Given the description of an element on the screen output the (x, y) to click on. 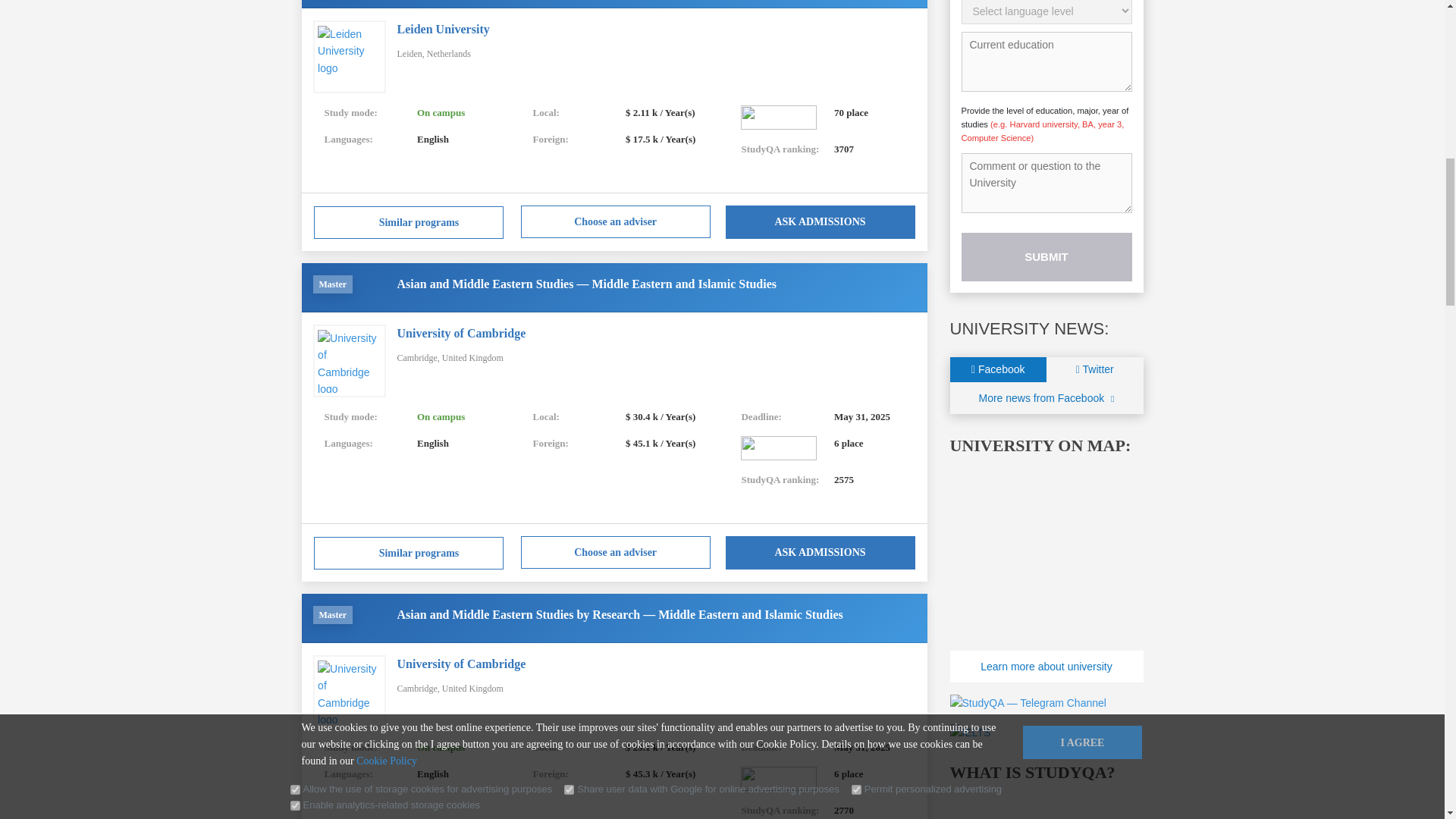
University of Cambridge logo (348, 691)
Leiden University logo (348, 56)
Master (332, 615)
Master (332, 284)
University of Cambridge logo (348, 361)
